Given the description of an element on the screen output the (x, y) to click on. 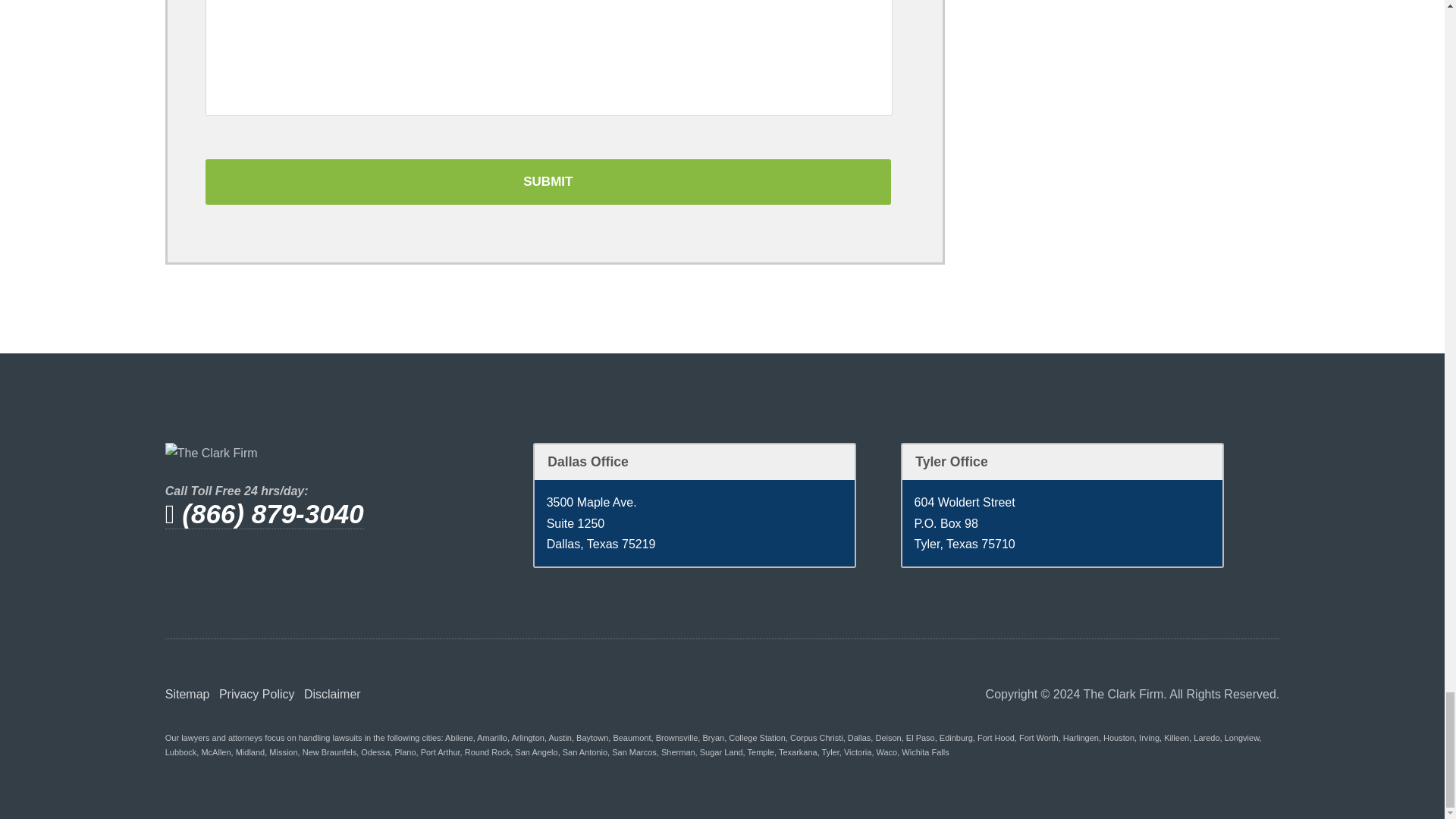
Submit (548, 181)
